Given the description of an element on the screen output the (x, y) to click on. 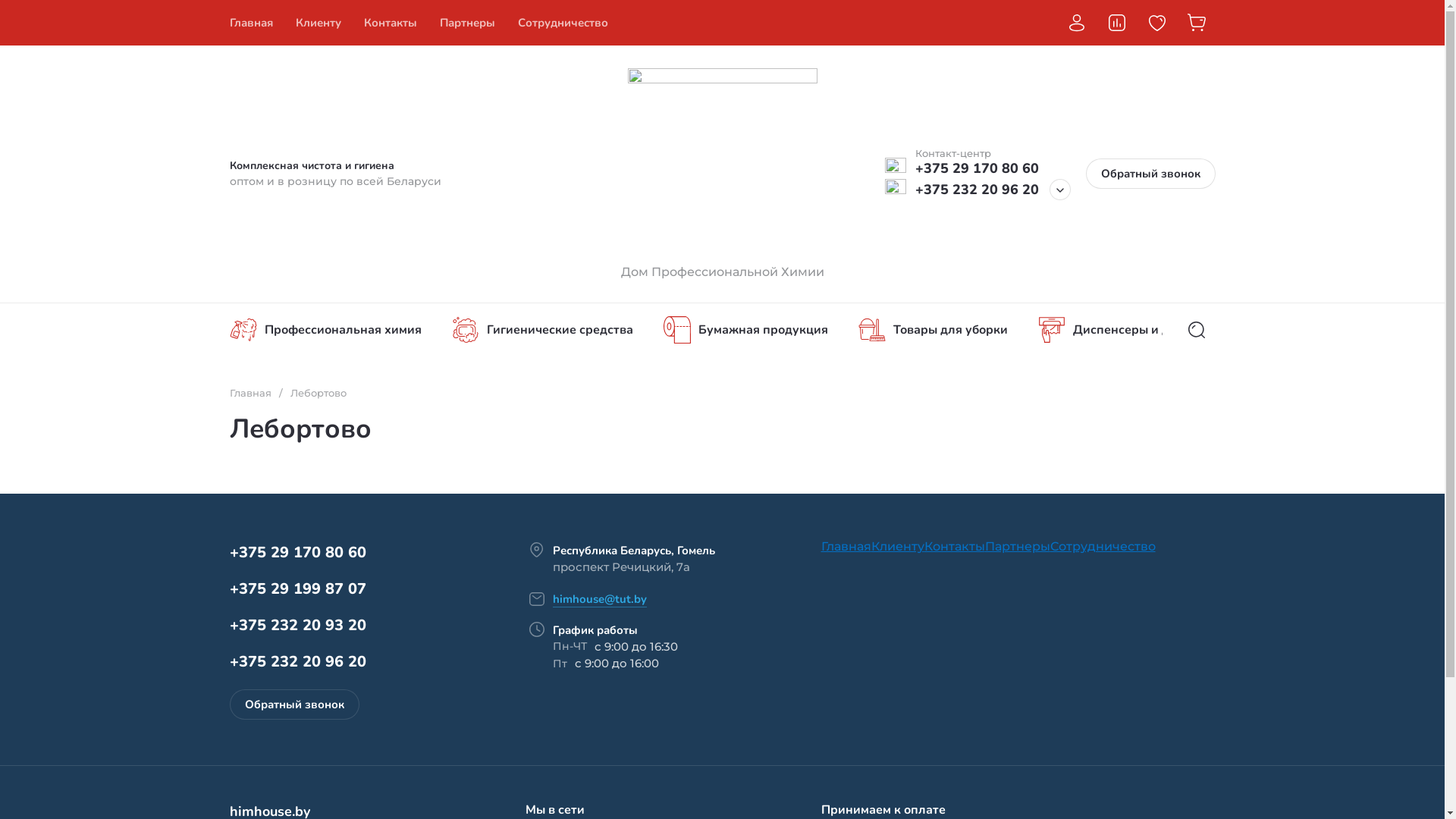
+375 232 20 96 20 Element type: text (976, 189)
himhouse@tut.by Element type: text (599, 599)
+375 29 170 80 60 Element type: text (297, 552)
+375 232 20 96 20 Element type: text (297, 661)
+375 232 20 93 20 Element type: text (297, 625)
+375 29 199 87 07 Element type: text (297, 588)
+375 29 170 80 60 Element type: text (976, 168)
